Given the description of an element on the screen output the (x, y) to click on. 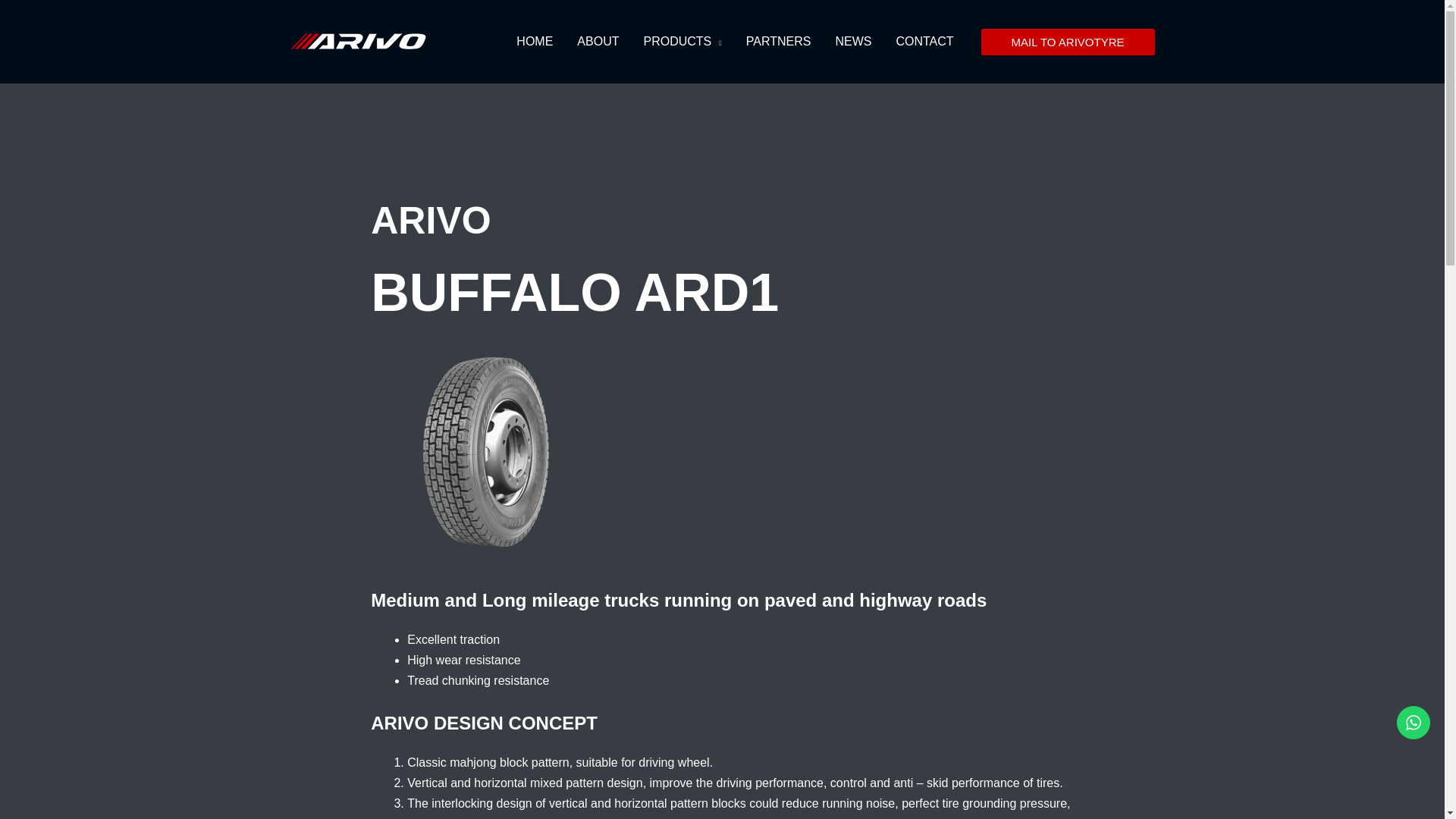
MAIL TO ARIVOTYRE (1067, 41)
WhatsApp us (1412, 722)
CONTACT (924, 41)
PARTNERS (778, 41)
PRODUCTS (681, 41)
